Given the description of an element on the screen output the (x, y) to click on. 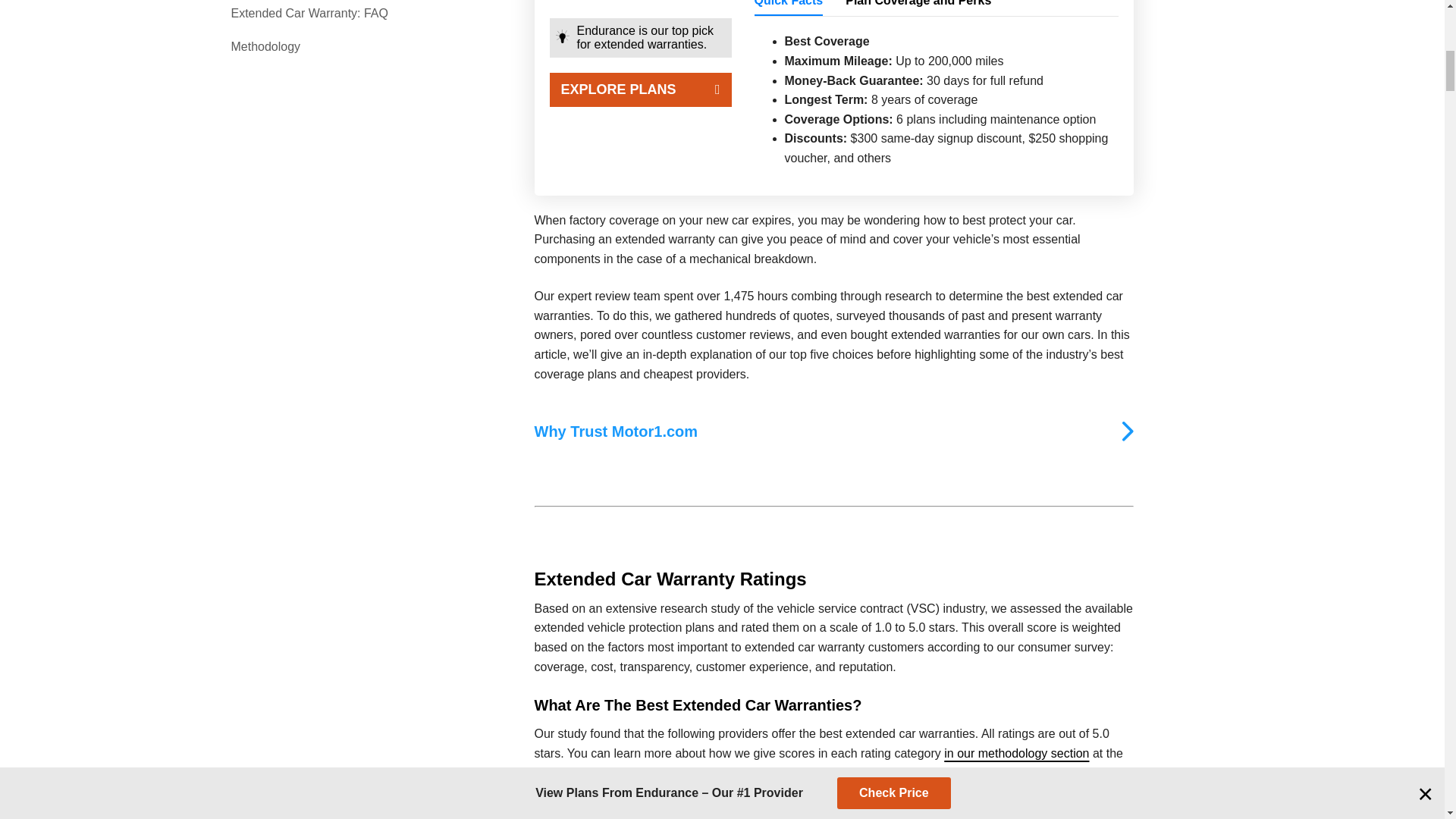
Methodology (321, 46)
Extended Car Warranty: FAQ (321, 13)
